Given the description of an element on the screen output the (x, y) to click on. 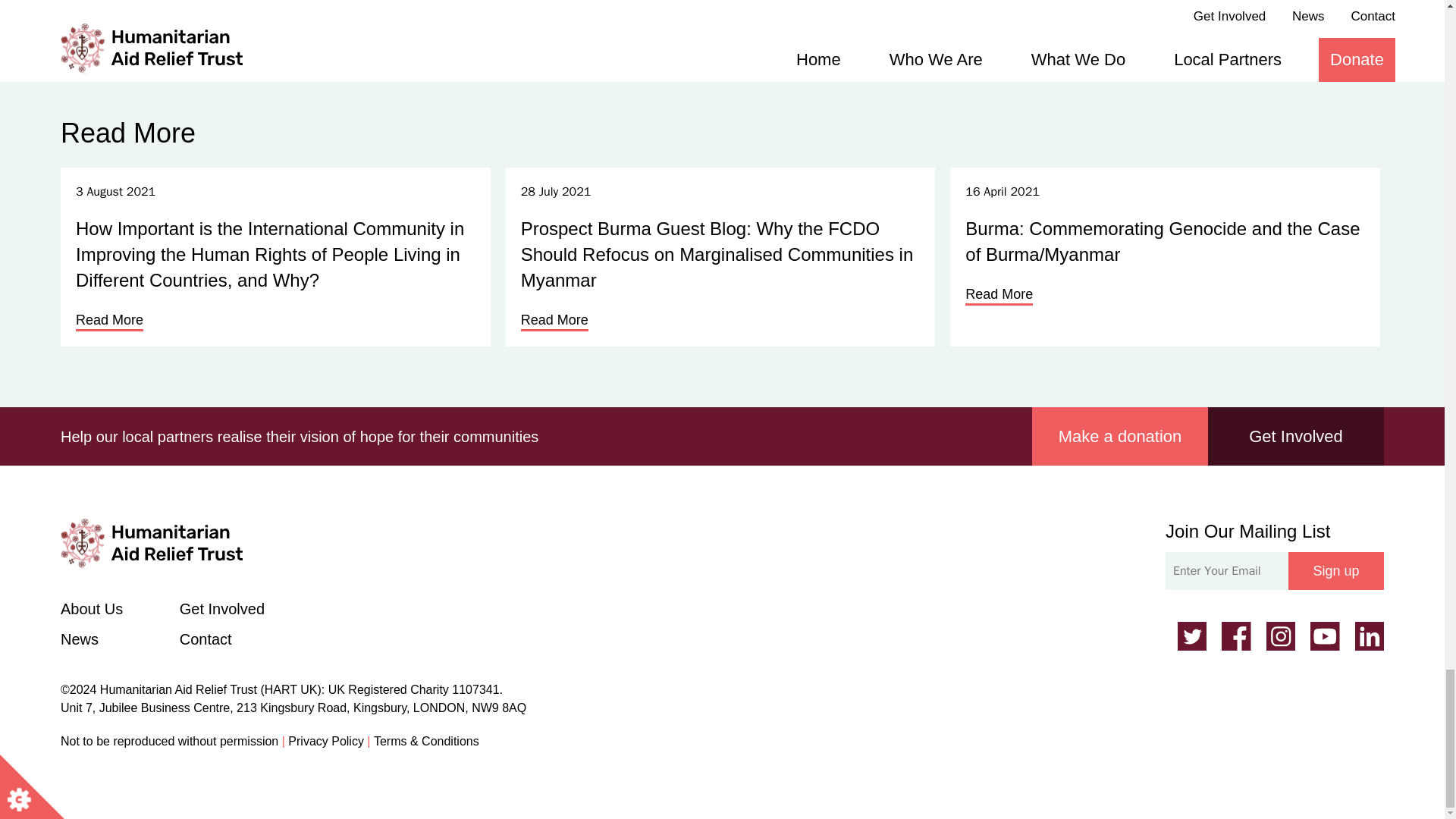
Instagram Logo (1280, 636)
Youtube Logo (1324, 636)
LinkedIn Logo (1368, 636)
Facebook Logo (1235, 636)
Twitter Logo (1190, 636)
Hart Logo (152, 543)
